Given the description of an element on the screen output the (x, y) to click on. 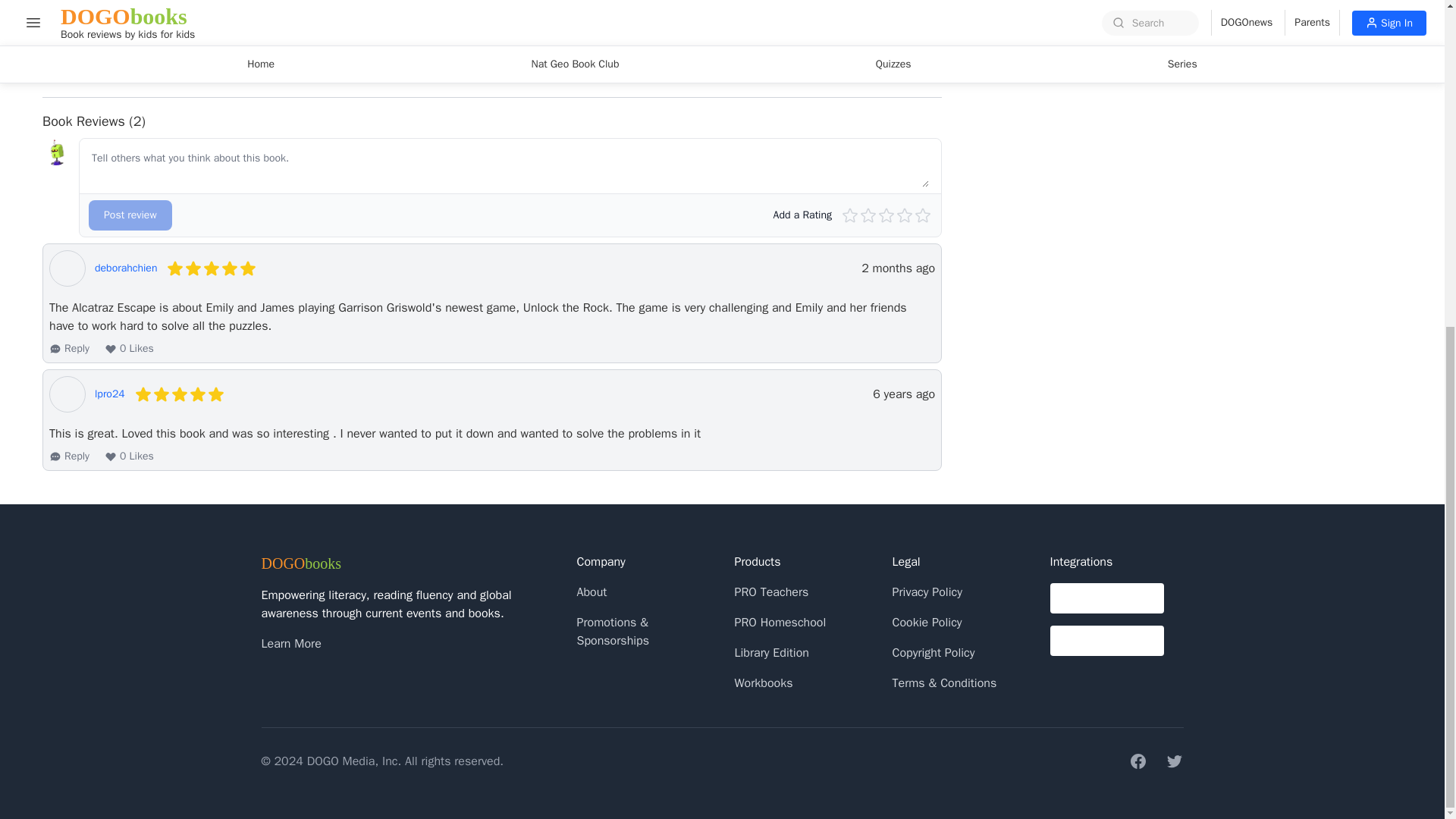
Reply (68, 348)
0 Likes (129, 348)
July 30, 2018 (903, 393)
About (591, 591)
deborahchien (125, 268)
Post review (129, 214)
Reply (68, 456)
June 4, 2024 (897, 268)
lpro24 (109, 394)
0 Likes (129, 456)
Learn More (290, 643)
